Given the description of an element on the screen output the (x, y) to click on. 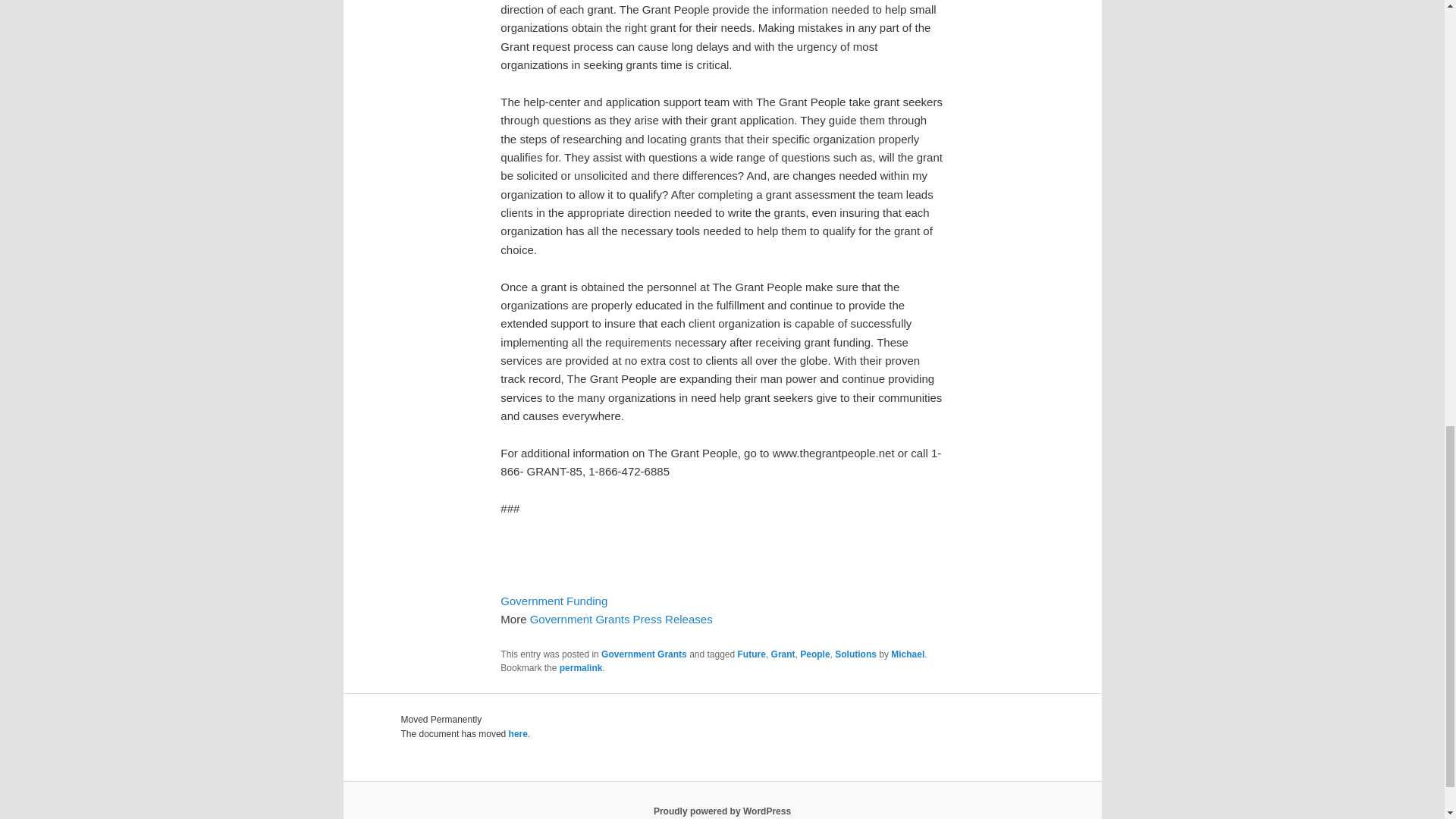
here (517, 733)
Permalink to The Grant People, Solutions for the Future (580, 667)
Government Funding (553, 600)
Government Grants (644, 654)
Future (751, 654)
Grant (782, 654)
permalink (580, 667)
Semantic Personal Publishing Platform (721, 810)
People (814, 654)
Michael (907, 654)
Proudly powered by WordPress (721, 810)
Solutions (855, 654)
Government Grants Press Releases (621, 618)
